Given the description of an element on the screen output the (x, y) to click on. 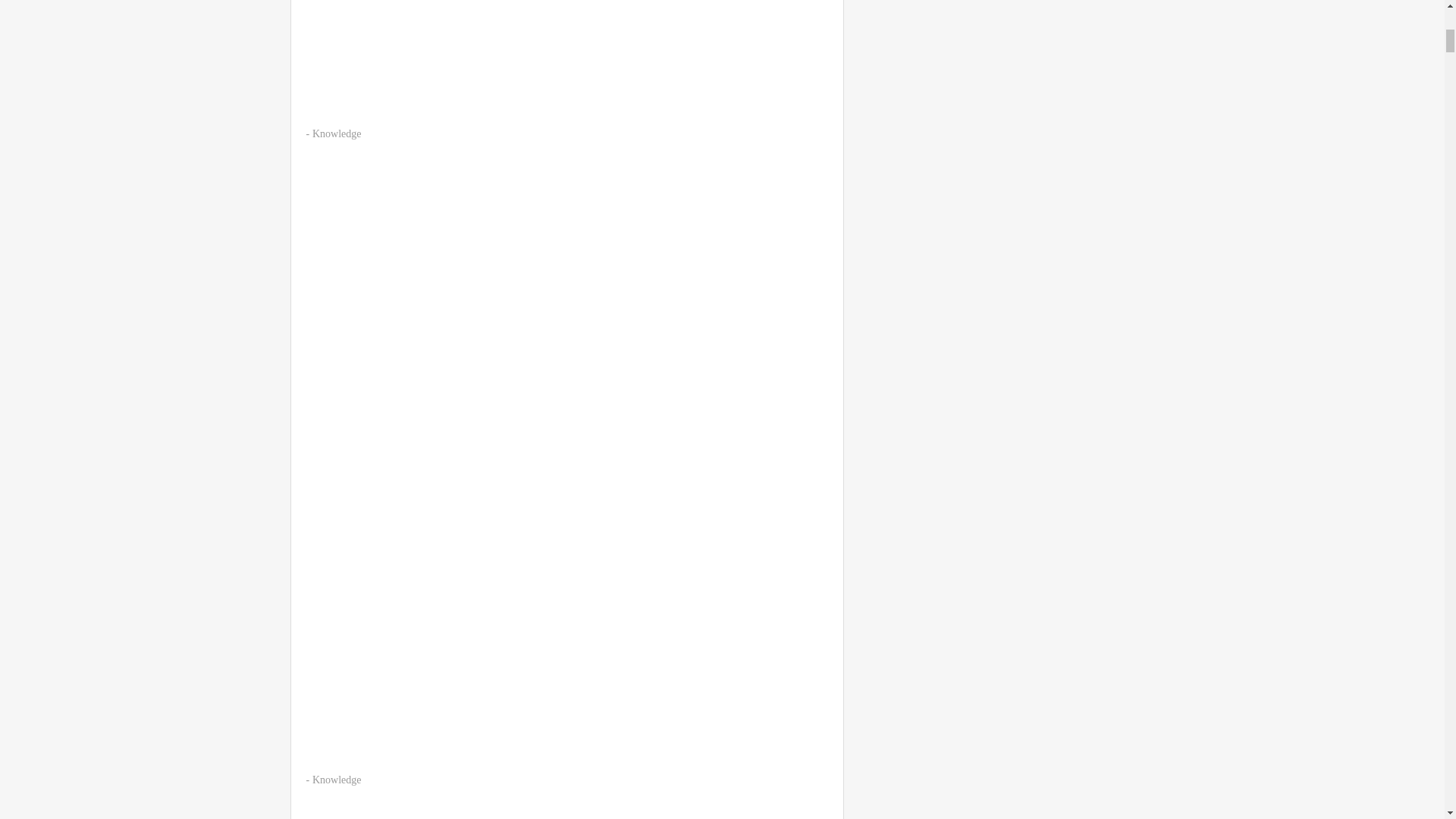
Knowledge (337, 779)
Knowledge (337, 133)
